Given the description of an element on the screen output the (x, y) to click on. 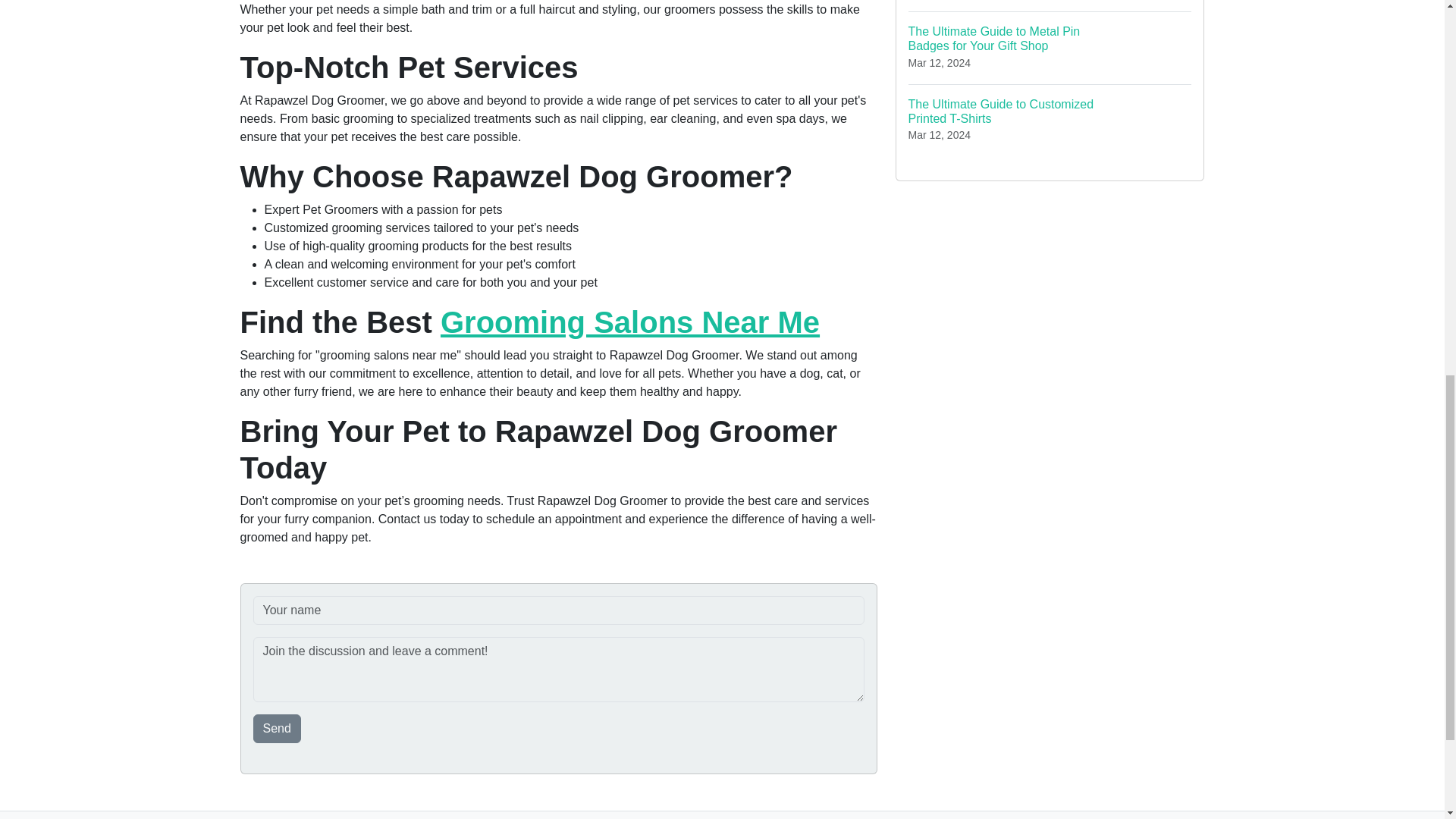
Send (277, 728)
Send (277, 728)
Grooming Salons Near Me (630, 322)
